Given the description of an element on the screen output the (x, y) to click on. 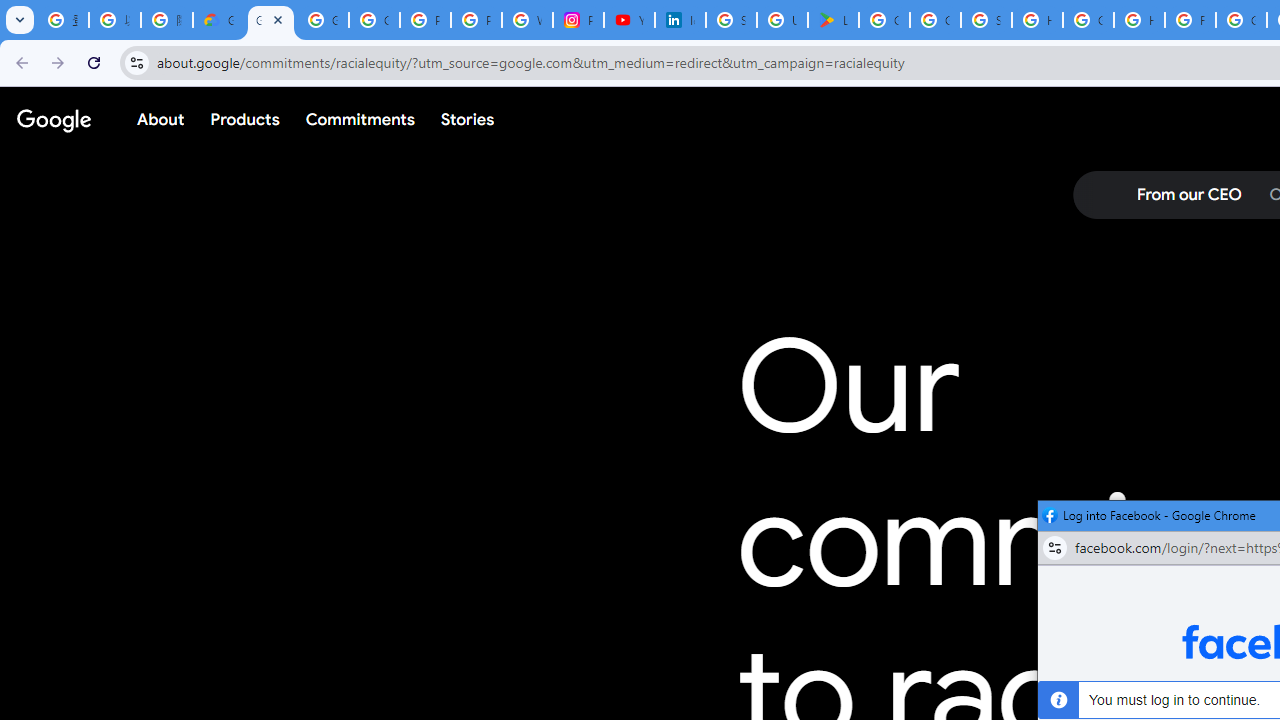
Products (245, 119)
Google Workspace - Specific Terms (935, 20)
YouTube Culture & Trends - On The Rise: Handcam Videos (629, 20)
About (161, 119)
How do I create a new Google Account? - Google Account Help (1138, 20)
